Given the description of an element on the screen output the (x, y) to click on. 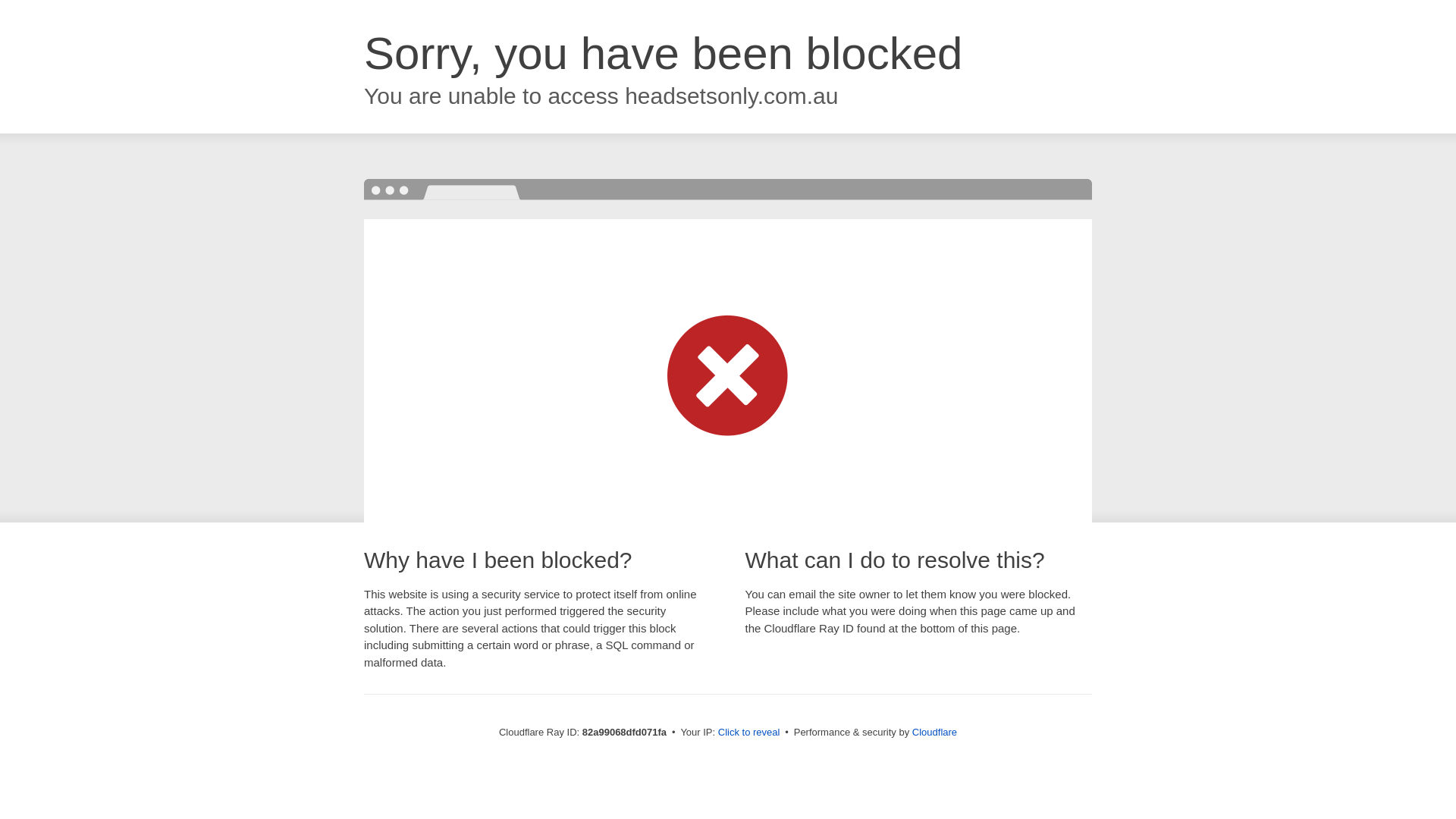
Cloudflare Element type: text (934, 731)
Click to reveal Element type: text (749, 732)
